Given the description of an element on the screen output the (x, y) to click on. 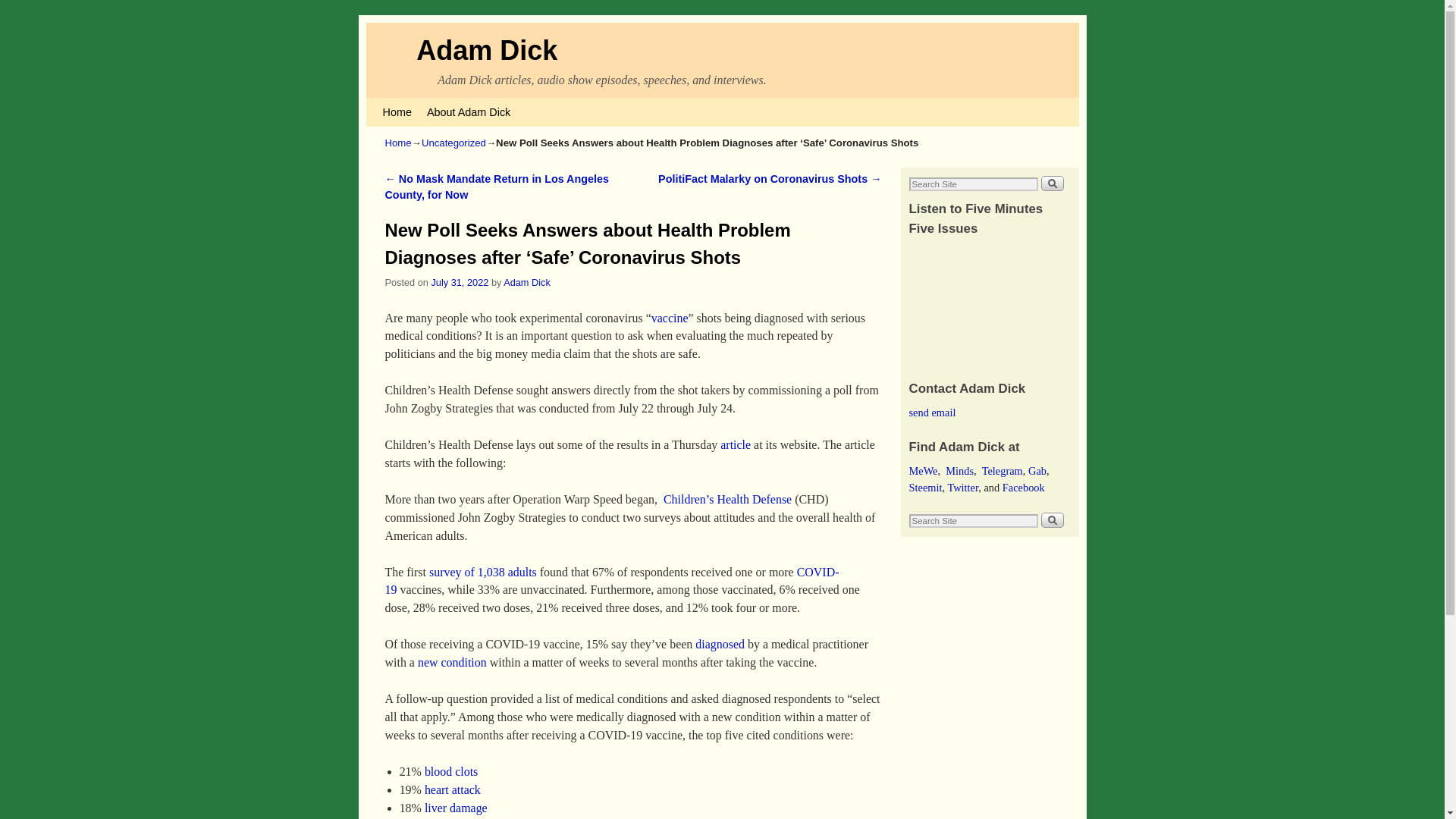
vaccine (669, 318)
Adam Dick (486, 50)
Twitter (962, 487)
Adam Dick (486, 50)
new condition (451, 662)
Skip to secondary content (412, 104)
Adam Dick (526, 281)
View all posts by Adam Dick (526, 281)
diagnosed (719, 644)
COVID-19 (612, 581)
Telegram (1002, 470)
Home (398, 142)
Minds (959, 470)
Gab (1036, 470)
blood clots (451, 771)
